Given the description of an element on the screen output the (x, y) to click on. 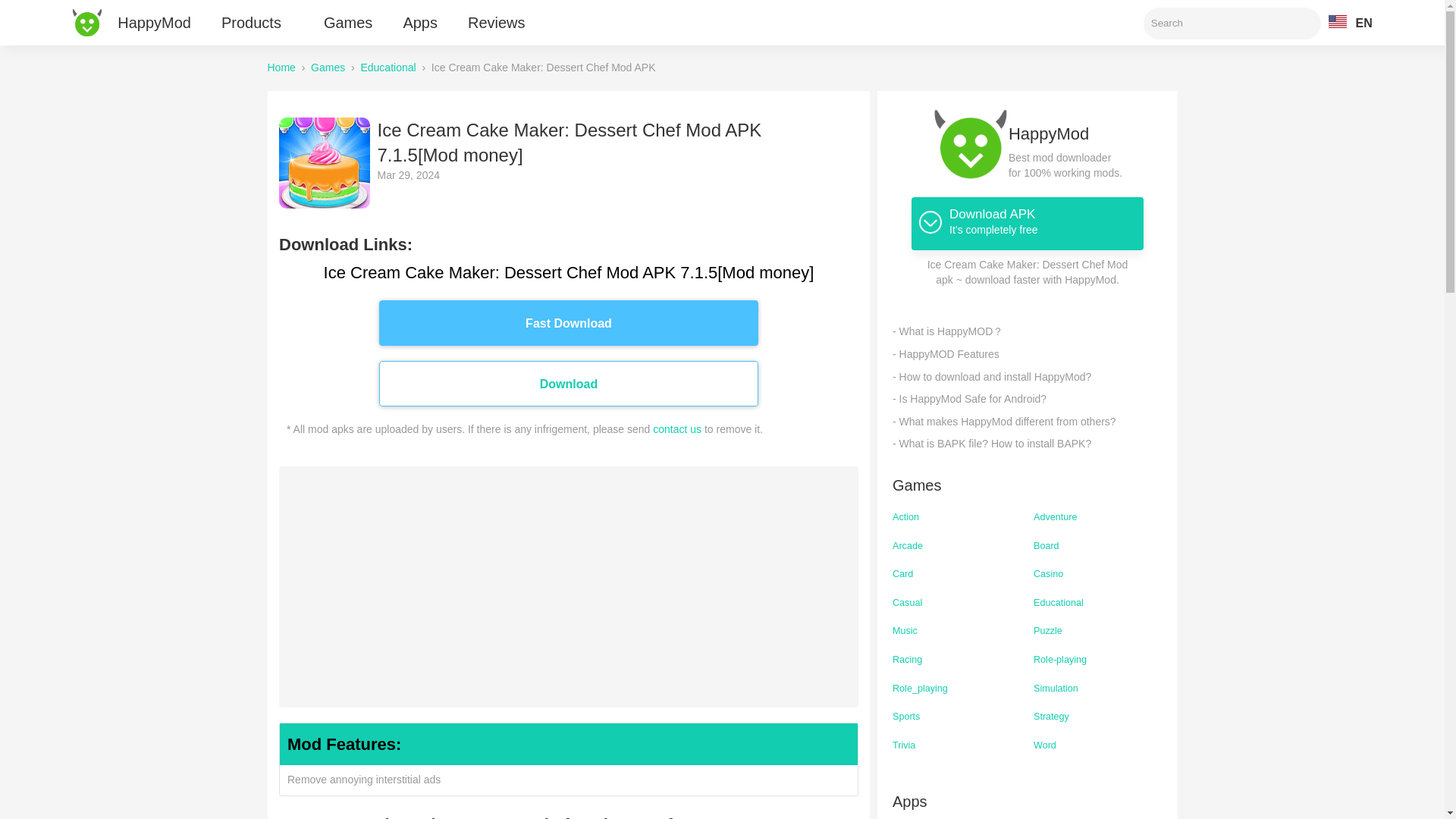
Fast Download (568, 321)
Arcade (955, 545)
Casual (955, 602)
Games (328, 67)
Home (280, 67)
Educational (1096, 602)
Reviews (496, 22)
EN (1350, 20)
Puzzle (1096, 631)
Board (1096, 545)
